Given the description of an element on the screen output the (x, y) to click on. 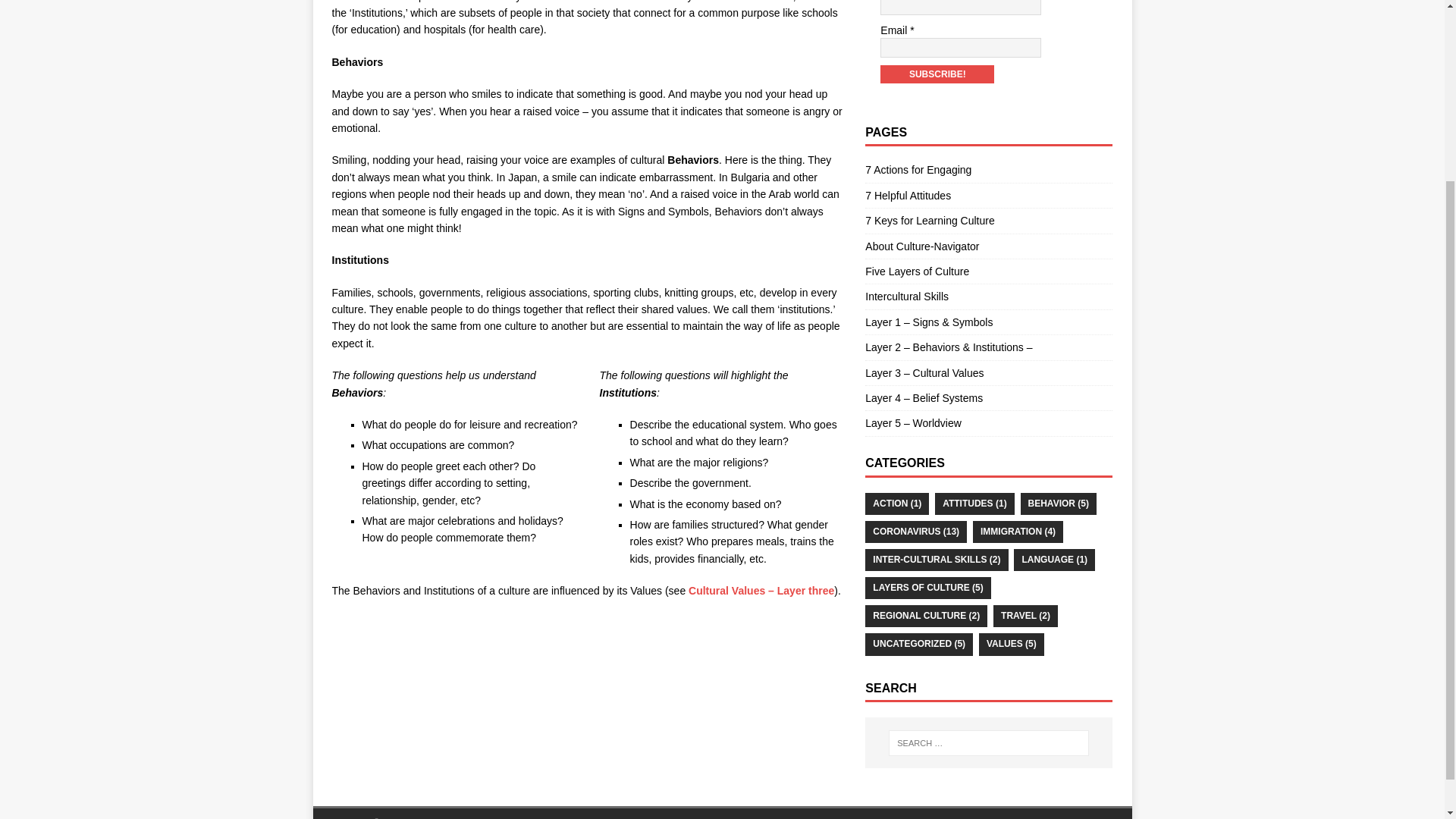
Intercultural Skills (988, 296)
Email (960, 47)
7 Helpful Attitudes (988, 195)
Subscribe! (937, 74)
Five Layers of Culture (988, 271)
7 Actions for Engaging (988, 171)
7 Keys for Learning Culture (988, 220)
Subscribe! (937, 74)
About Culture-Navigator (988, 246)
First name (960, 7)
